Given the description of an element on the screen output the (x, y) to click on. 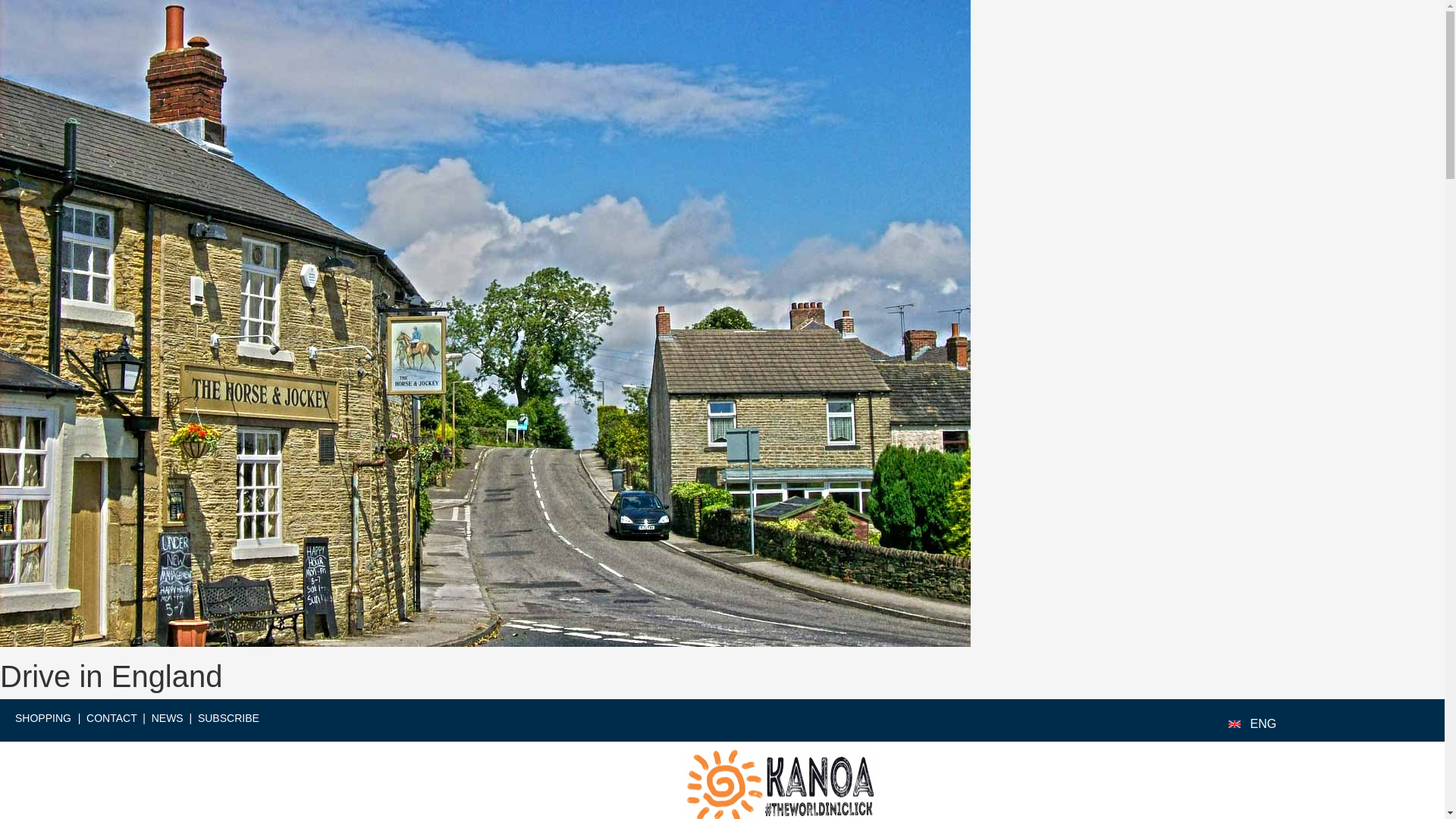
NEWS (167, 717)
SUBSCRIBE (228, 717)
CONTACT (110, 717)
SHOPPING (42, 717)
ENG (1263, 723)
